Given the description of an element on the screen output the (x, y) to click on. 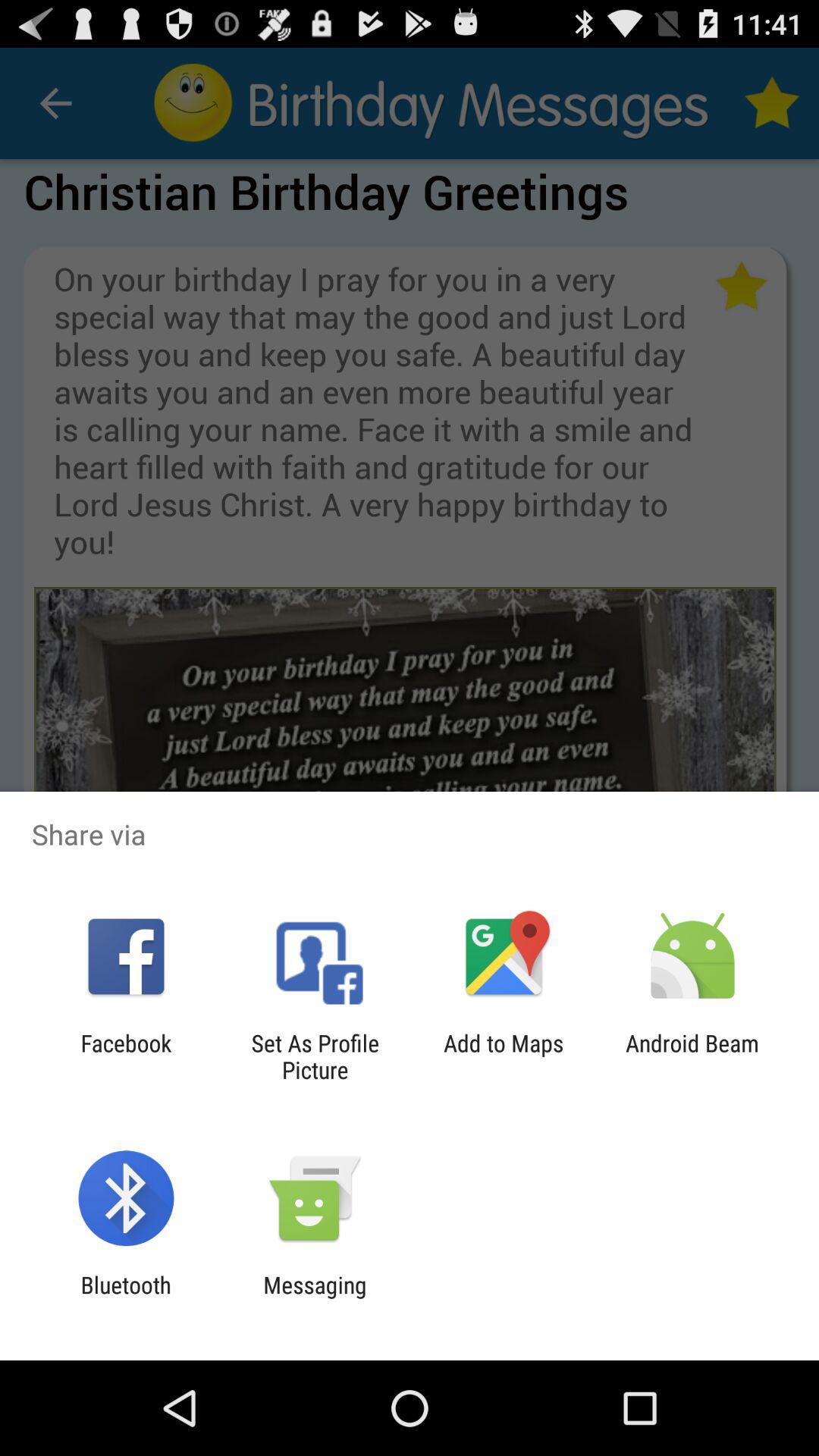
tap facebook app (125, 1056)
